Given the description of an element on the screen output the (x, y) to click on. 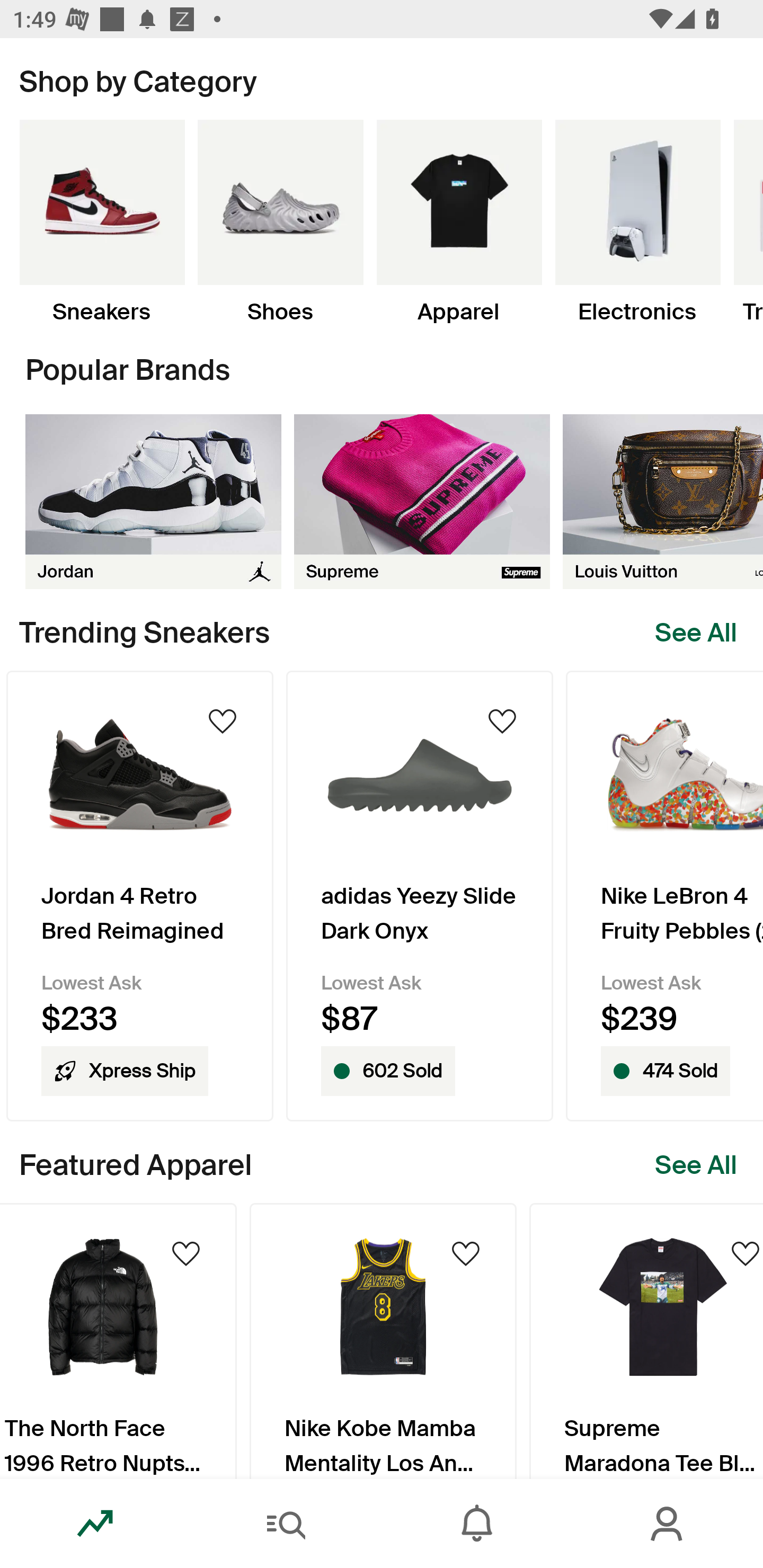
Product Image Sneakers (101, 222)
Product Image Shoes (280, 222)
Product Image Apparel (458, 222)
Product Image Electronics (637, 222)
jordan.jpg (153, 501)
supreme.jpg (421, 501)
lv.jpg (663, 501)
See All (695, 632)
See All (695, 1165)
Product Image Supreme Maradona Tee Black (646, 1340)
Search (285, 1523)
Inbox (476, 1523)
Account (667, 1523)
